Given the description of an element on the screen output the (x, y) to click on. 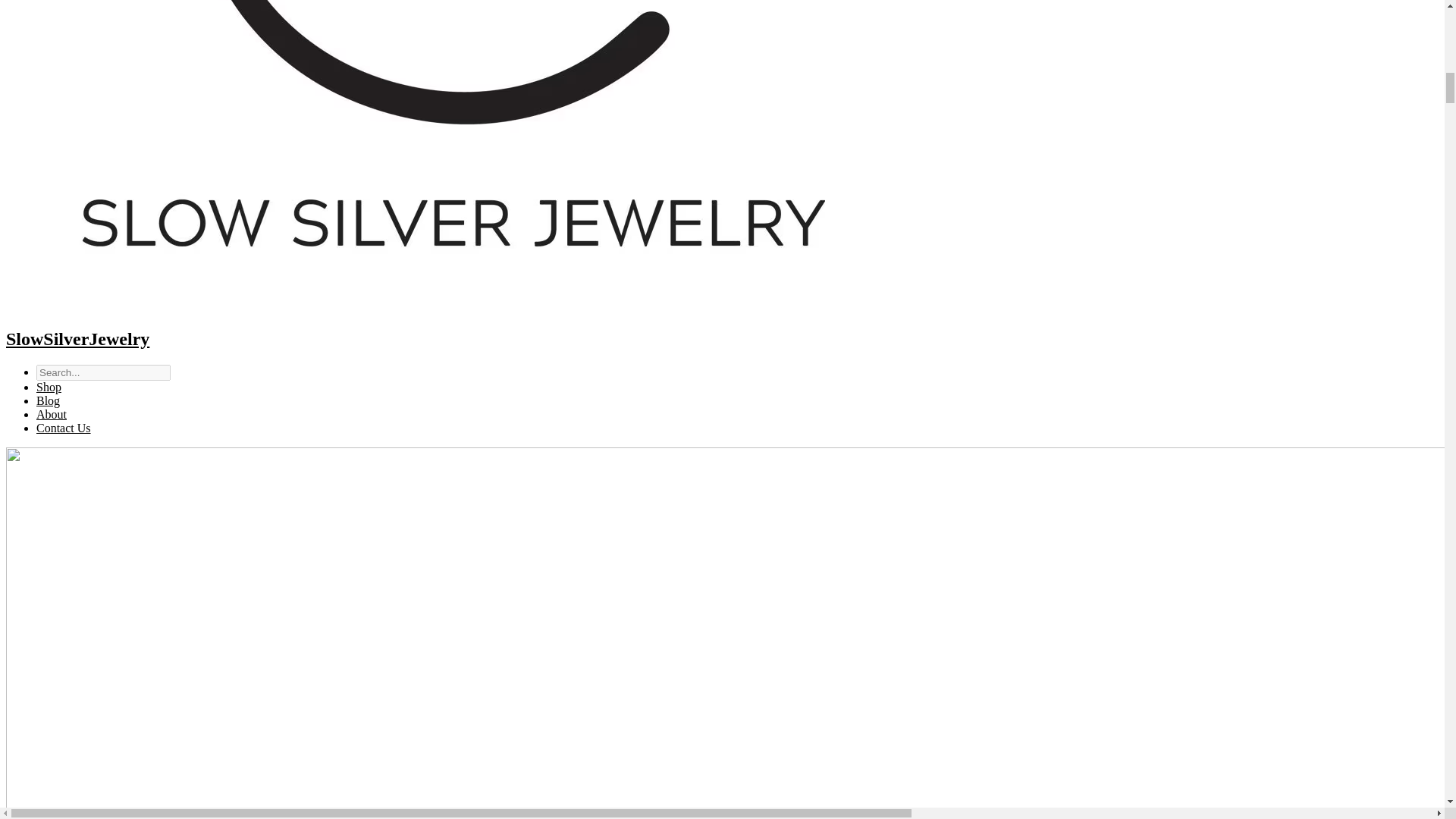
Blog (47, 400)
Contact Us (63, 427)
About (51, 413)
Shop (48, 386)
